Given the description of an element on the screen output the (x, y) to click on. 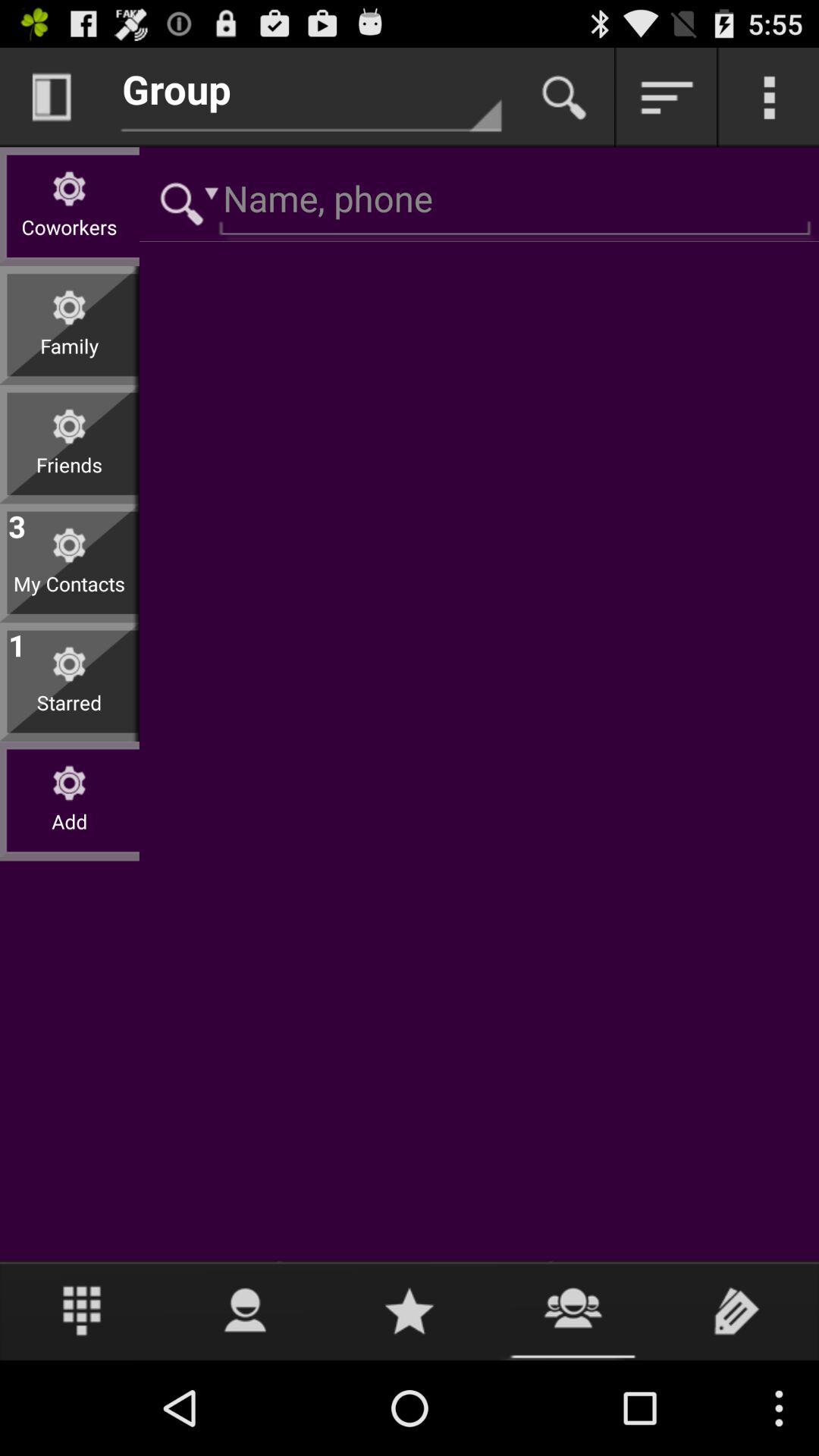
search dropdown (182, 201)
